Given the description of an element on the screen output the (x, y) to click on. 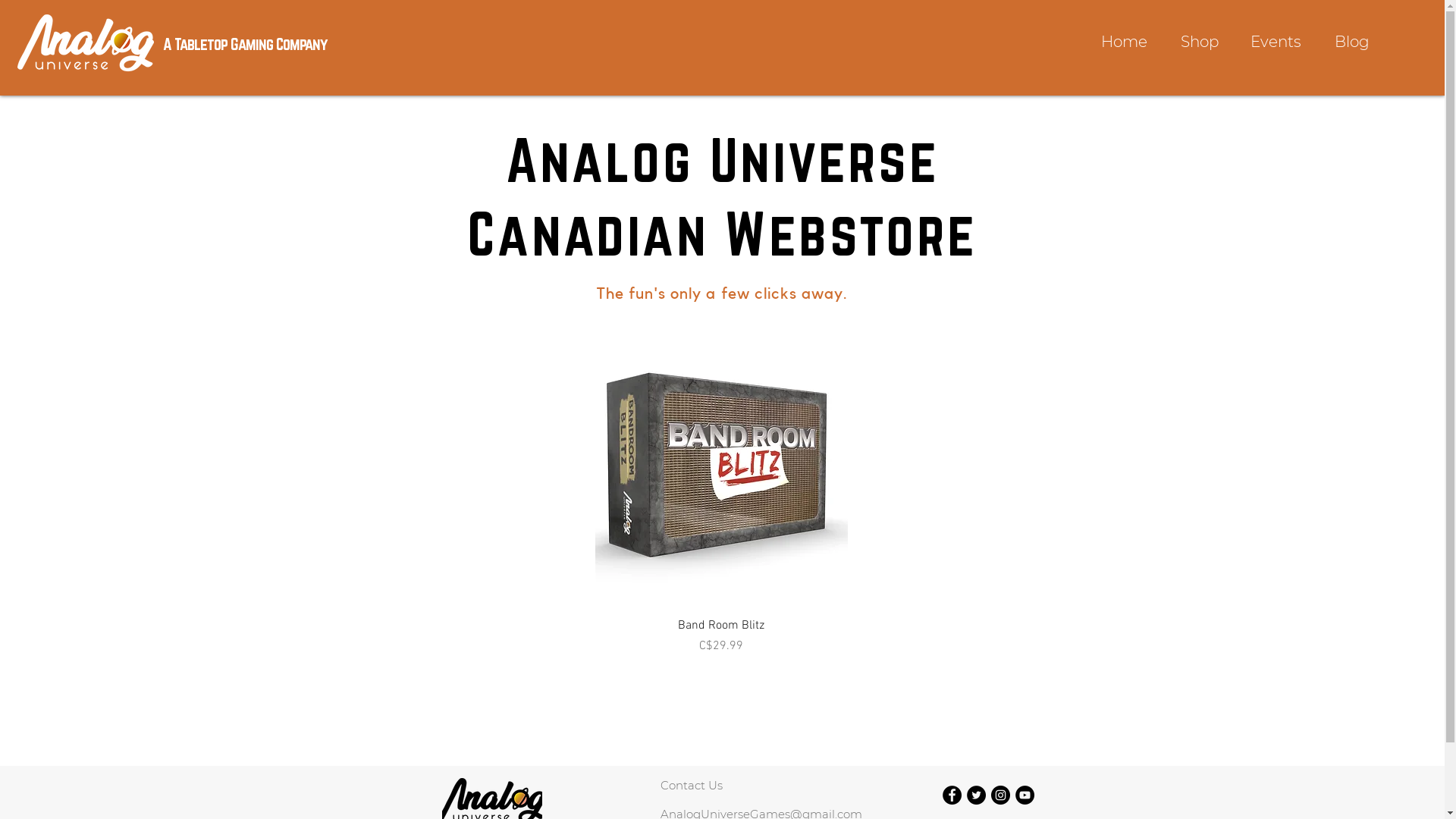
Blog Element type: text (1351, 43)
Shop Element type: text (1199, 43)
Band Room Blitz
Price
C$29.99 Element type: text (720, 636)
Home Element type: text (1124, 43)
Events Element type: text (1275, 43)
